Given the description of an element on the screen output the (x, y) to click on. 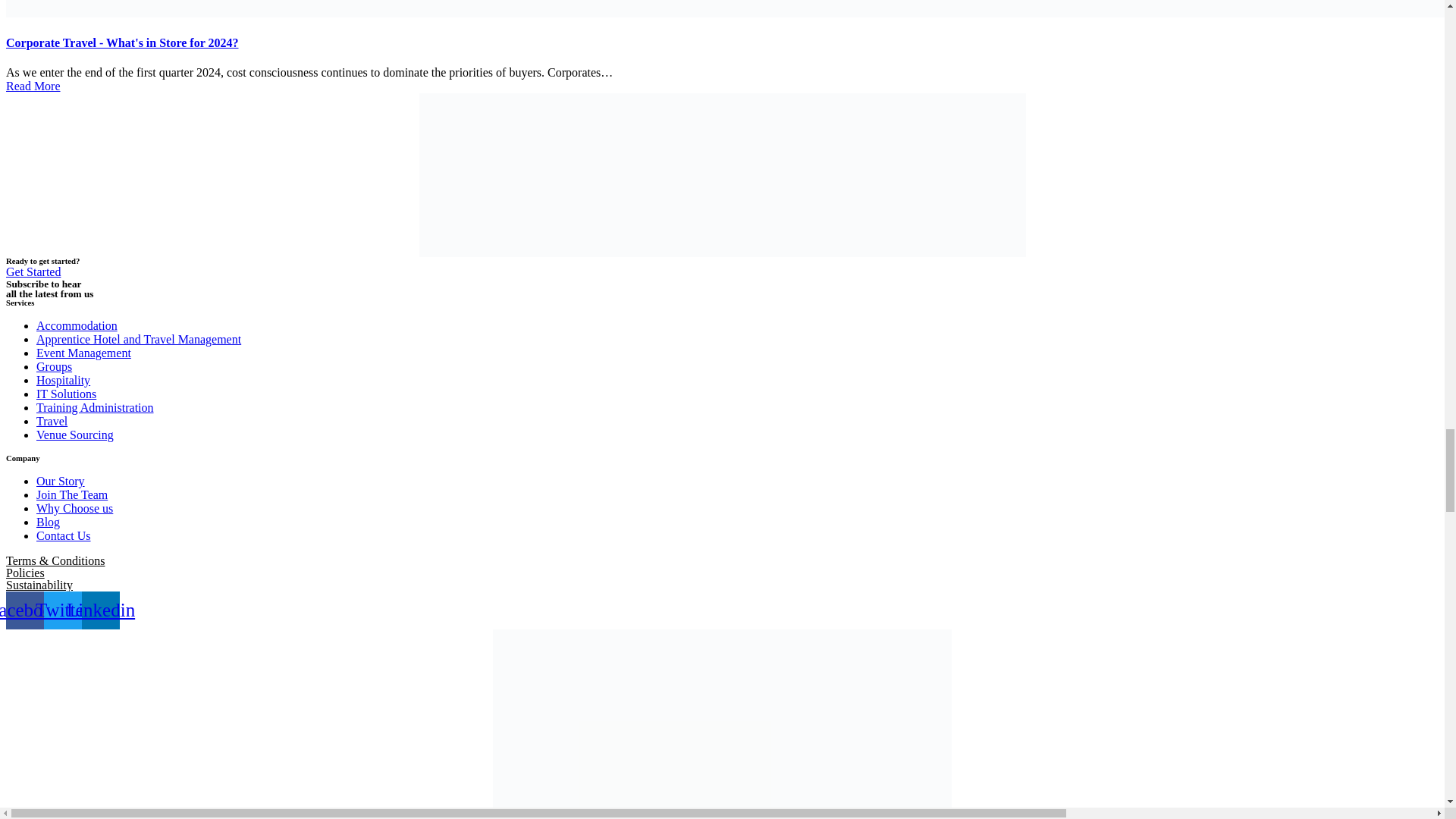
Accommodation (76, 325)
Read More (33, 85)
Blog (47, 521)
Corporate Travel - What's in Store for 2024? (121, 42)
Venue Sourcing (74, 434)
Travel (51, 420)
Training Administration (95, 407)
Contact Us (63, 535)
Join The Team (71, 494)
Get Started (33, 271)
Groups (53, 366)
Hospitality (63, 379)
Facebook (24, 610)
Our Story (60, 481)
Apprentice Hotel and Travel Management (138, 338)
